Given the description of an element on the screen output the (x, y) to click on. 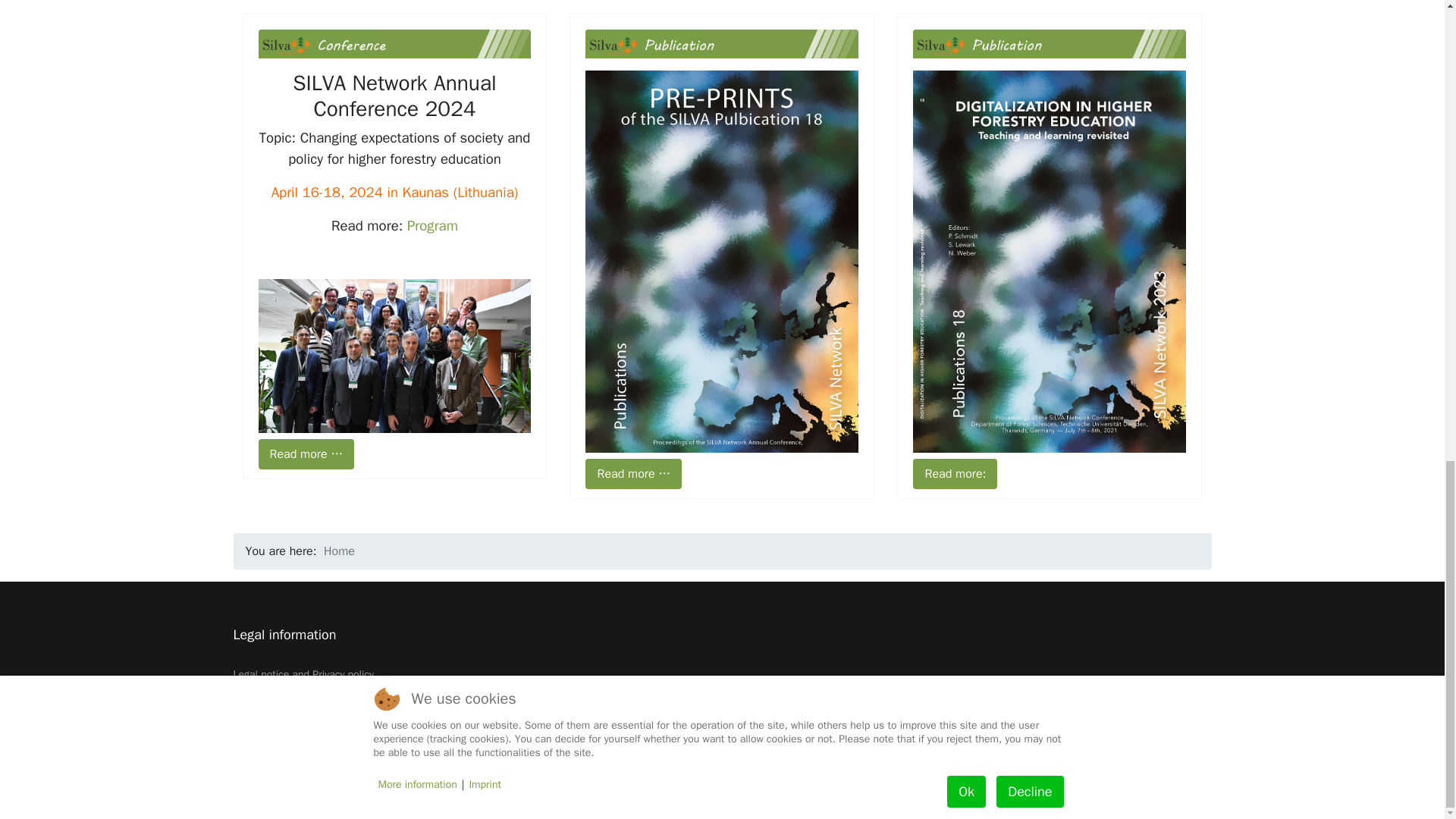
Login (721, 702)
Read more: (954, 473)
Legal notice and Privacy policy (721, 674)
Program (432, 226)
